Given the description of an element on the screen output the (x, y) to click on. 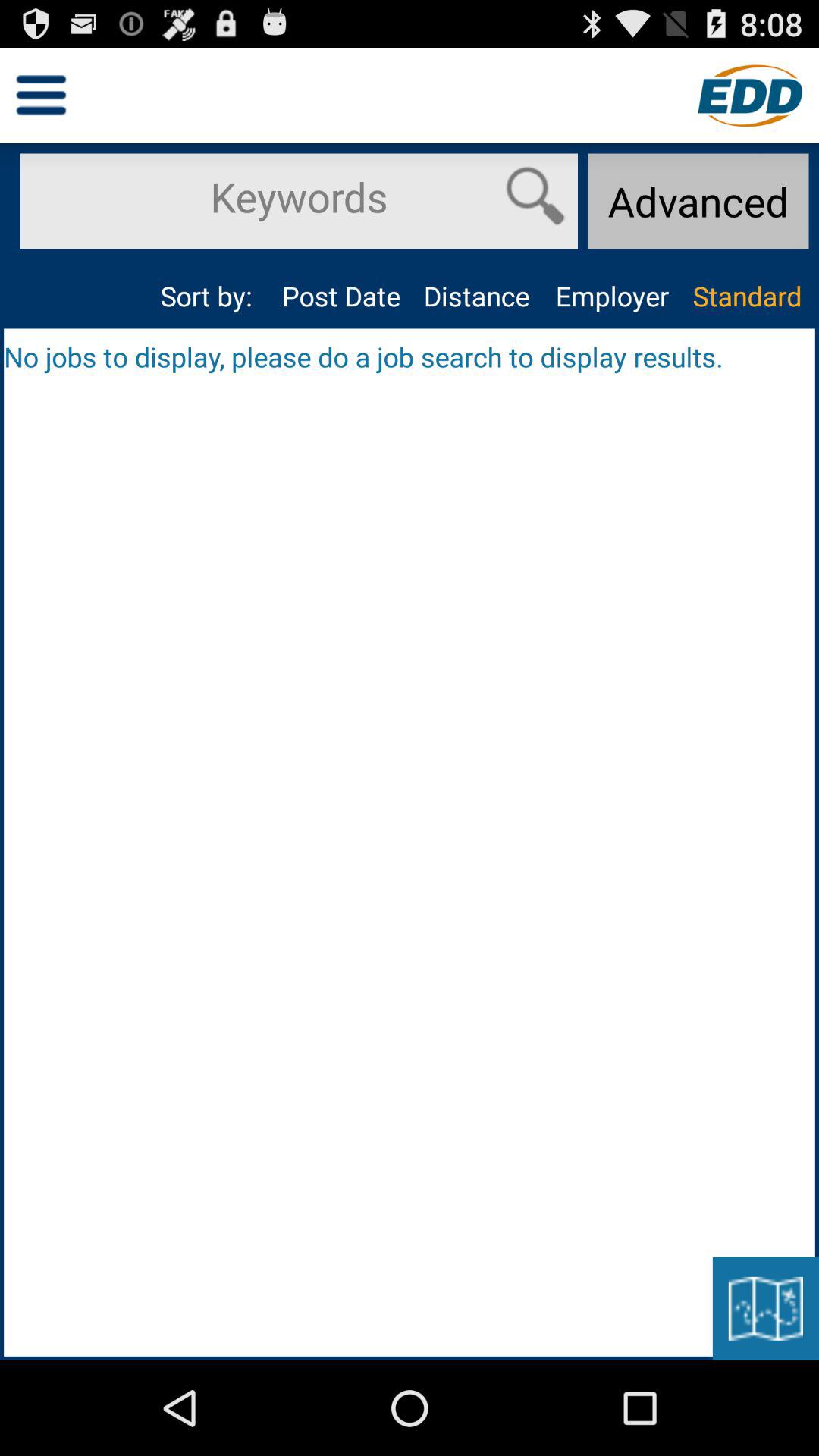
swipe until the no jobs to item (409, 356)
